Given the description of an element on the screen output the (x, y) to click on. 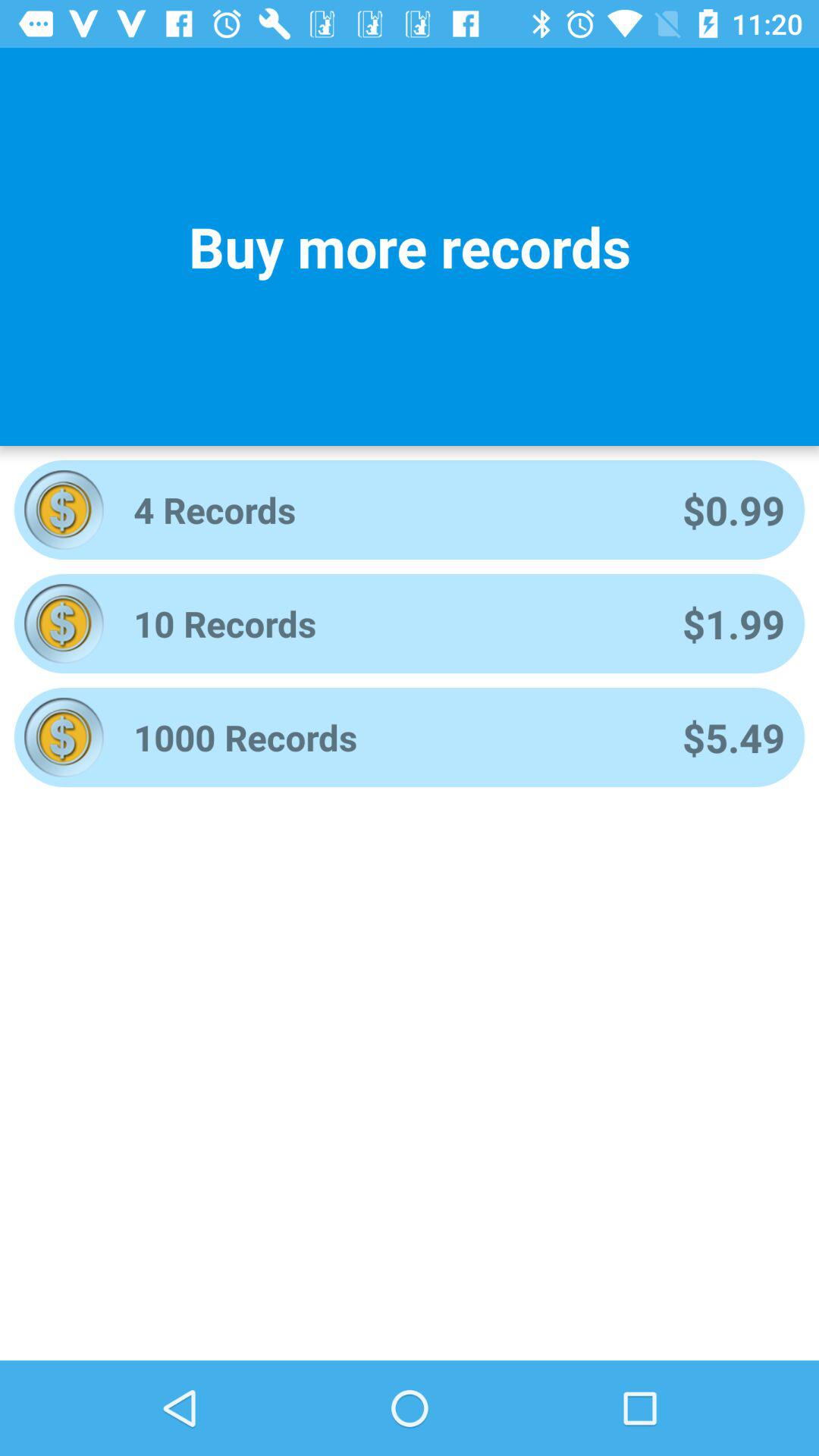
tap icon next to $1.99 item (387, 623)
